Given the description of an element on the screen output the (x, y) to click on. 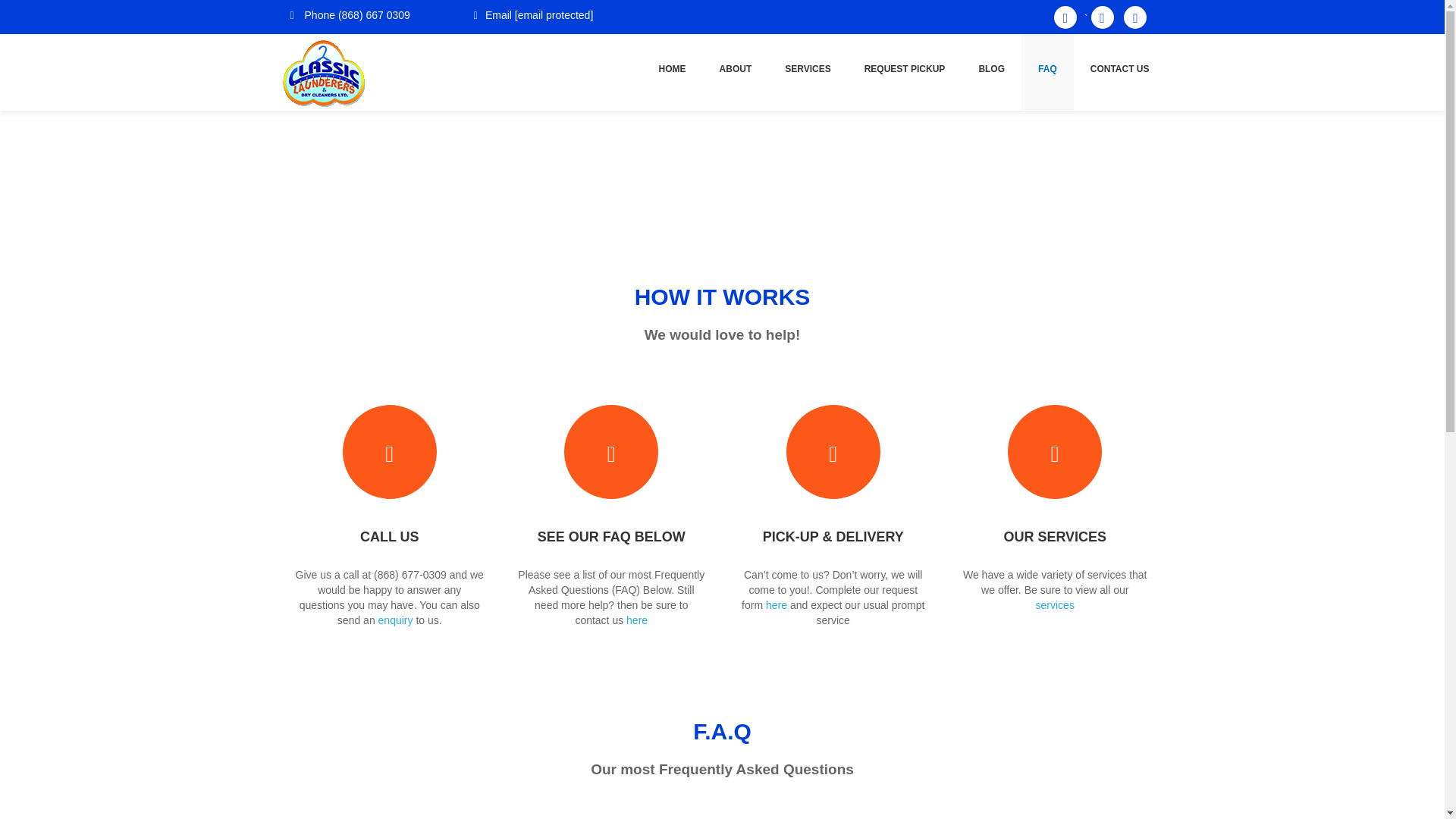
enquiry (395, 620)
services (1054, 604)
here (776, 604)
here (636, 620)
REQUEST PICKUP (904, 71)
facebook classiclaundrytt (1069, 19)
Home (1101, 182)
CONTACT US (1120, 71)
SERVICES (807, 71)
